Given the description of an element on the screen output the (x, y) to click on. 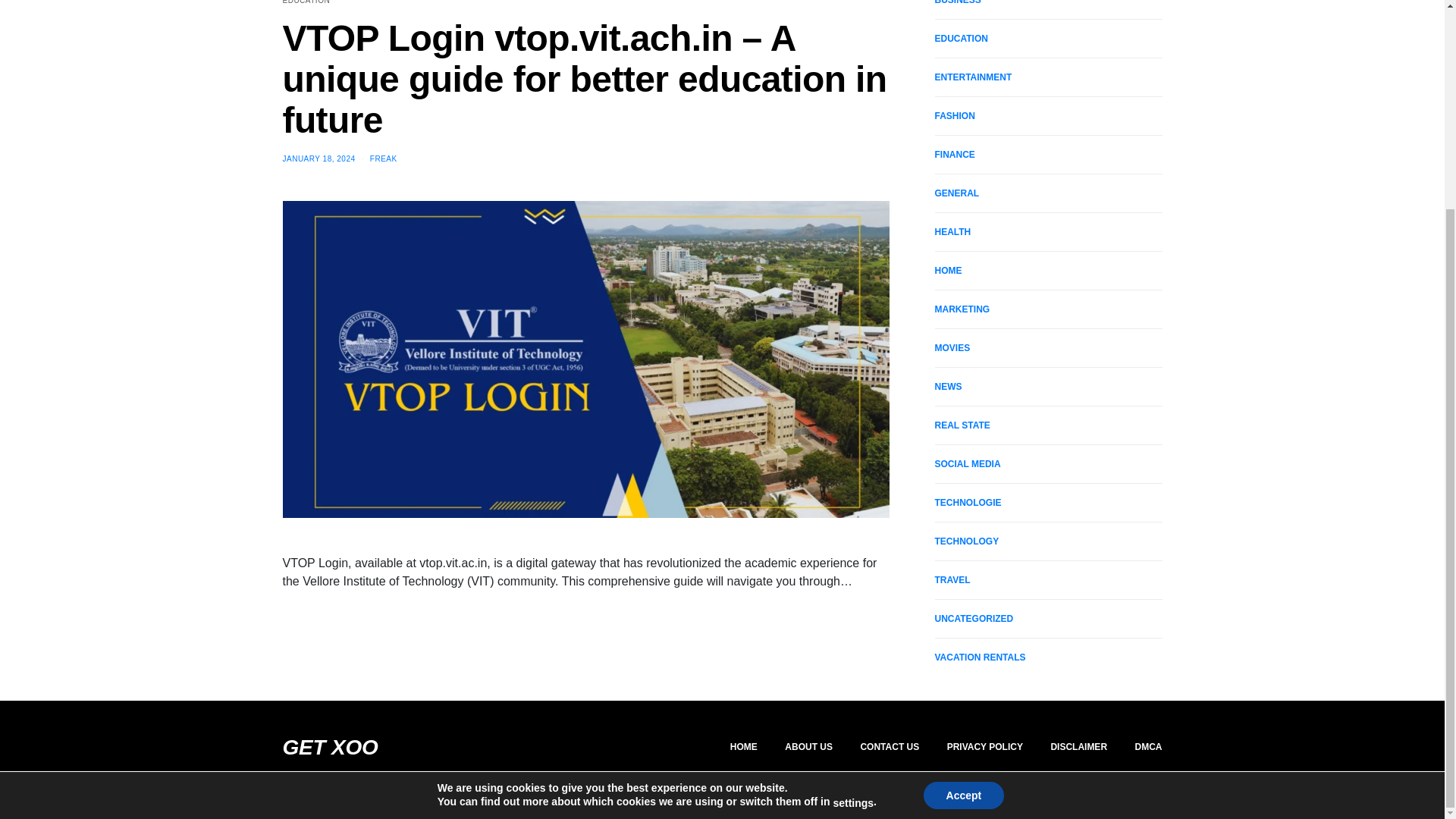
View all posts by Freak (383, 158)
EDUCATION (306, 2)
JANUARY 18, 2024 (318, 158)
